Given the description of an element on the screen output the (x, y) to click on. 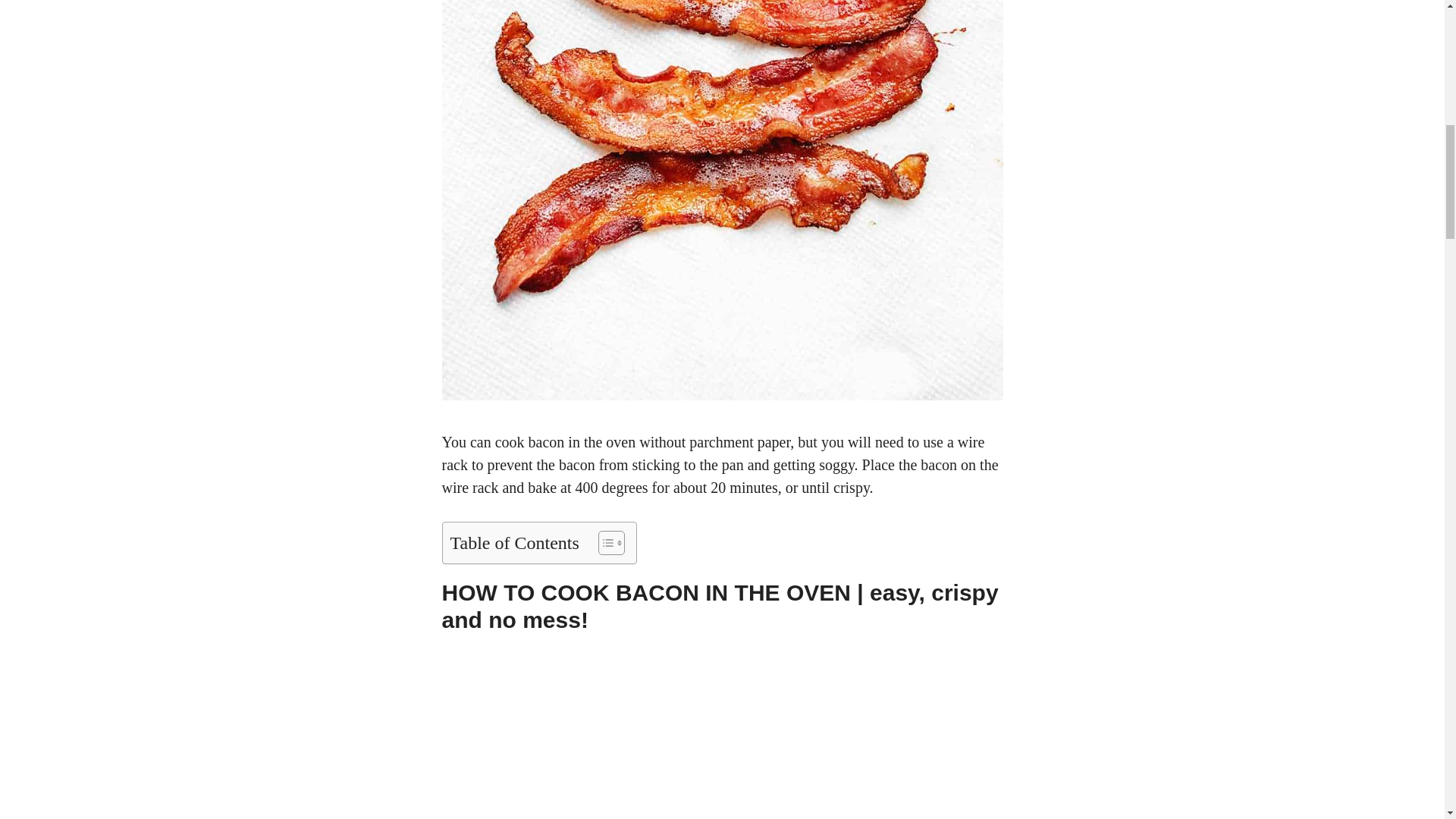
Scroll back to top (1406, 720)
